Given the description of an element on the screen output the (x, y) to click on. 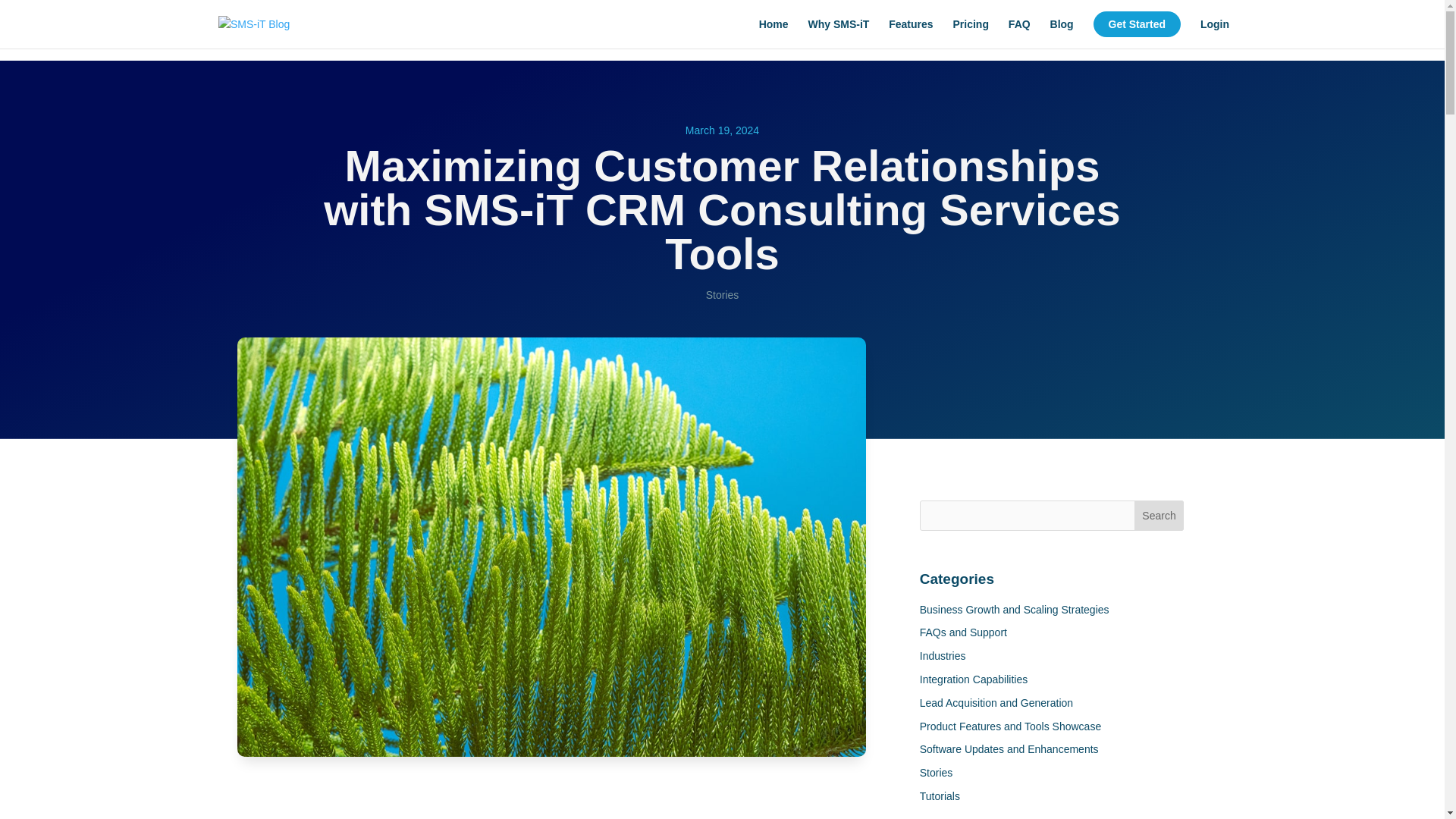
Blog (1061, 29)
Business Growth and Scaling Strategies (1014, 609)
Industries (943, 655)
FAQs and Support (963, 632)
Pricing (970, 29)
FAQ (1019, 29)
Lead Acquisition and Generation (996, 702)
Product Features and Tools Showcase (1010, 726)
Stories (936, 772)
Tutorials (939, 796)
Features (910, 29)
Software Updates and Enhancements (1009, 748)
Stories (722, 295)
